Given the description of an element on the screen output the (x, y) to click on. 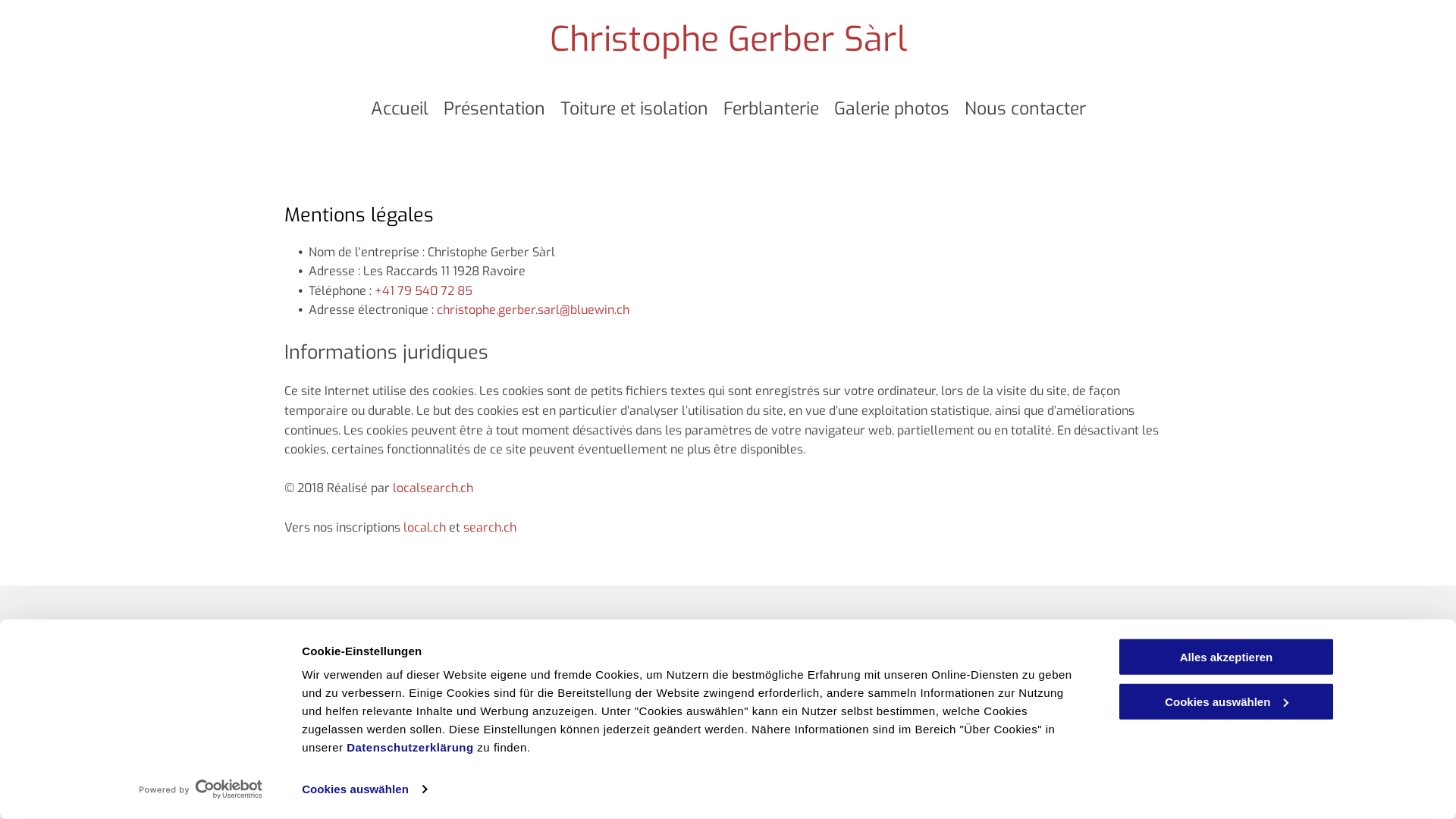
Alles akzeptieren Element type: text (1225, 656)
+41 79 540 72 85 Element type: text (560, 648)
christophe.gerber.sarl@bluewin.ch Element type: text (532, 309)
Nous contacter Element type: text (1024, 109)
Toiture et isolation Element type: text (633, 109)
local.ch Element type: text (424, 527)
Galerie photos Element type: text (891, 109)
search.ch Element type: text (489, 527)
Ferblanterie Element type: text (771, 109)
Accueil Element type: text (398, 109)
localsearch.ch Element type: text (432, 487)
christophe.gerber.sarl@bluewin.ch Element type: text (601, 681)
+41 79 540 72 85 Element type: text (423, 290)
